Given the description of an element on the screen output the (x, y) to click on. 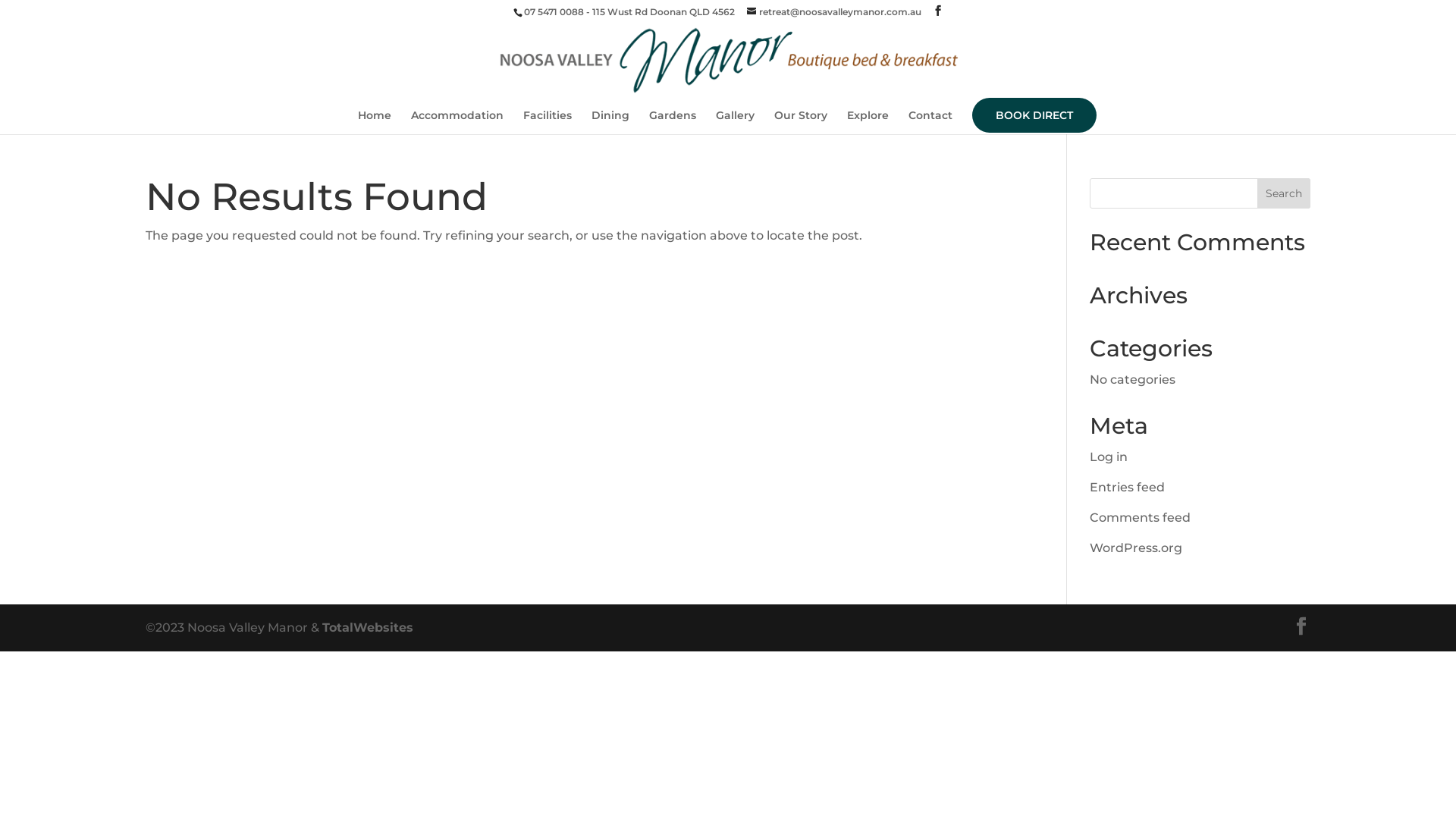
Search Element type: text (1283, 193)
Contact Element type: text (930, 121)
Entries feed Element type: text (1126, 487)
retreat@noosavalleymanor.com.au Element type: text (833, 11)
Home Element type: text (374, 121)
07 5471 0088 Element type: text (553, 11)
TotalWebsites Element type: text (367, 627)
Our Story Element type: text (800, 121)
Gallery Element type: text (734, 121)
Gardens Element type: text (672, 121)
Facilities Element type: text (547, 121)
BOOK DIRECT Element type: text (1034, 114)
Explore Element type: text (867, 121)
Comments feed Element type: text (1139, 517)
Dining Element type: text (610, 121)
WordPress.org Element type: text (1135, 547)
Accommodation Element type: text (457, 121)
Log in Element type: text (1108, 456)
